Given the description of an element on the screen output the (x, y) to click on. 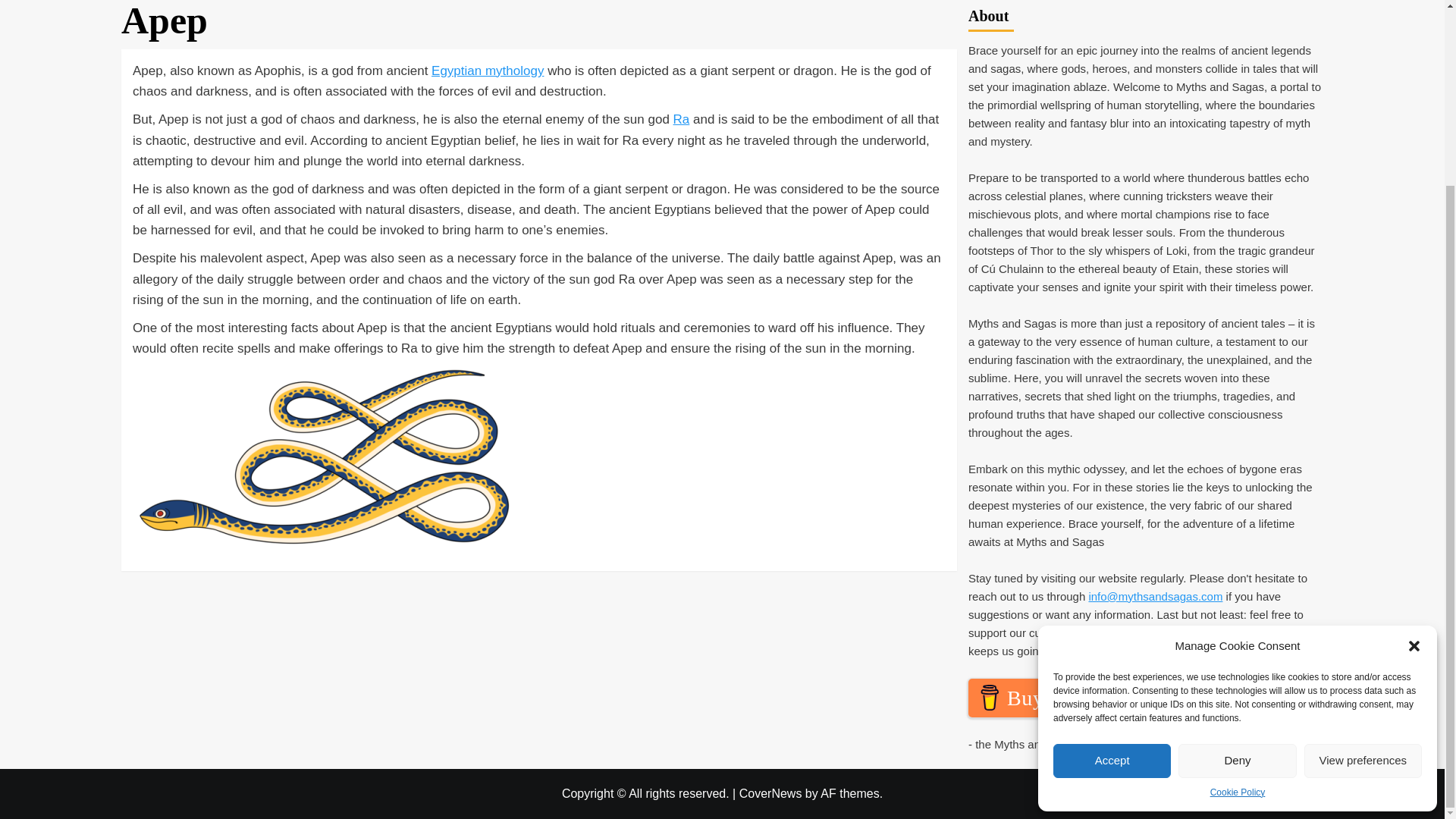
Cookie Policy (1237, 563)
View preferences (1363, 530)
Deny (1236, 530)
Accept (1111, 530)
